Given the description of an element on the screen output the (x, y) to click on. 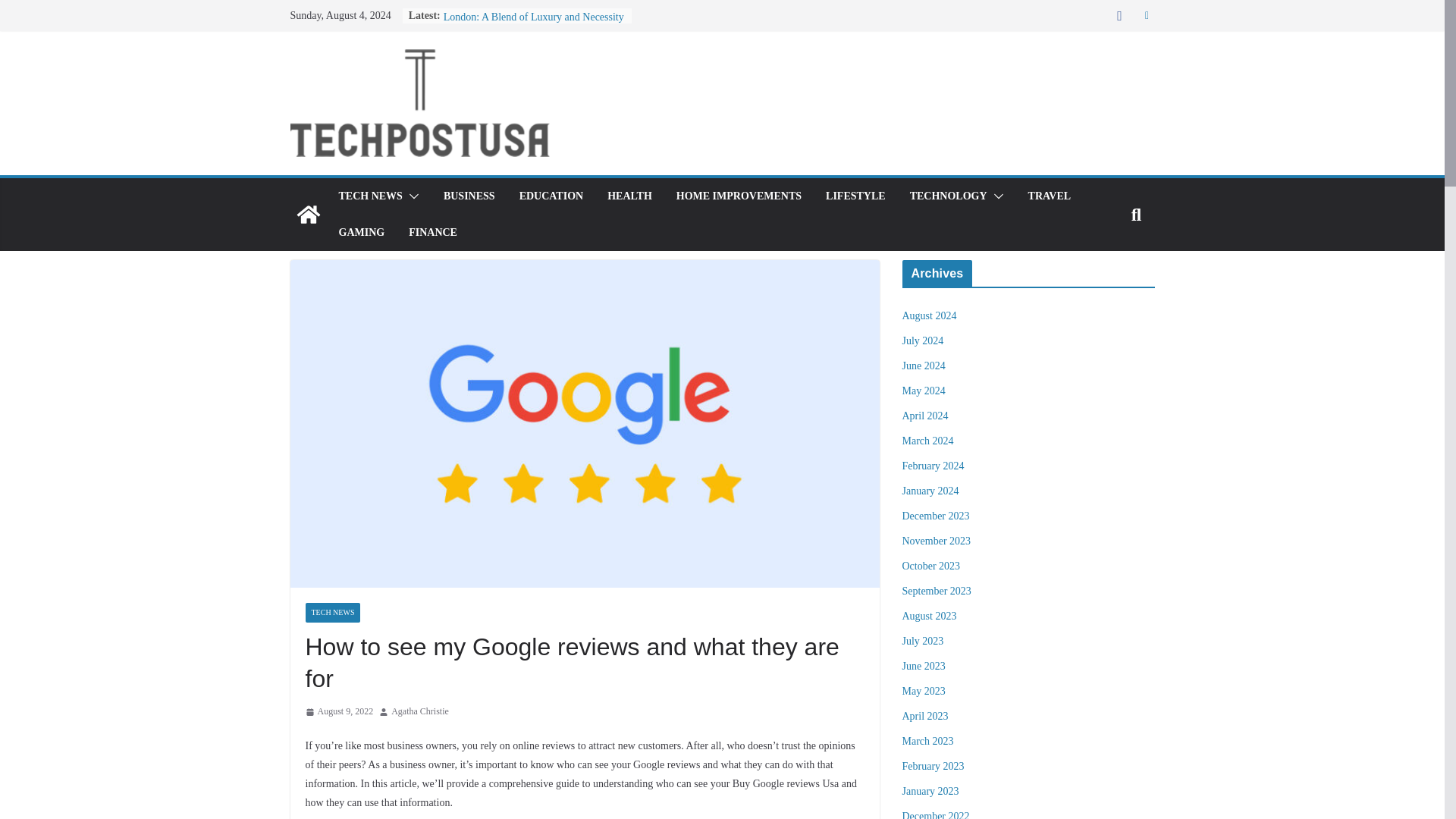
August 9, 2022 (338, 711)
FINANCE (433, 232)
Agatha Christie (419, 711)
GAMING (360, 232)
BUSINESS (469, 196)
HOME IMPROVEMENTS (739, 196)
HEALTH (629, 196)
1:30 PM (338, 711)
TECH NEWS (369, 196)
Tech Post Usa (307, 214)
TECHNOLOGY (948, 196)
EDUCATION (551, 196)
TRAVEL (1049, 196)
